Given the description of an element on the screen output the (x, y) to click on. 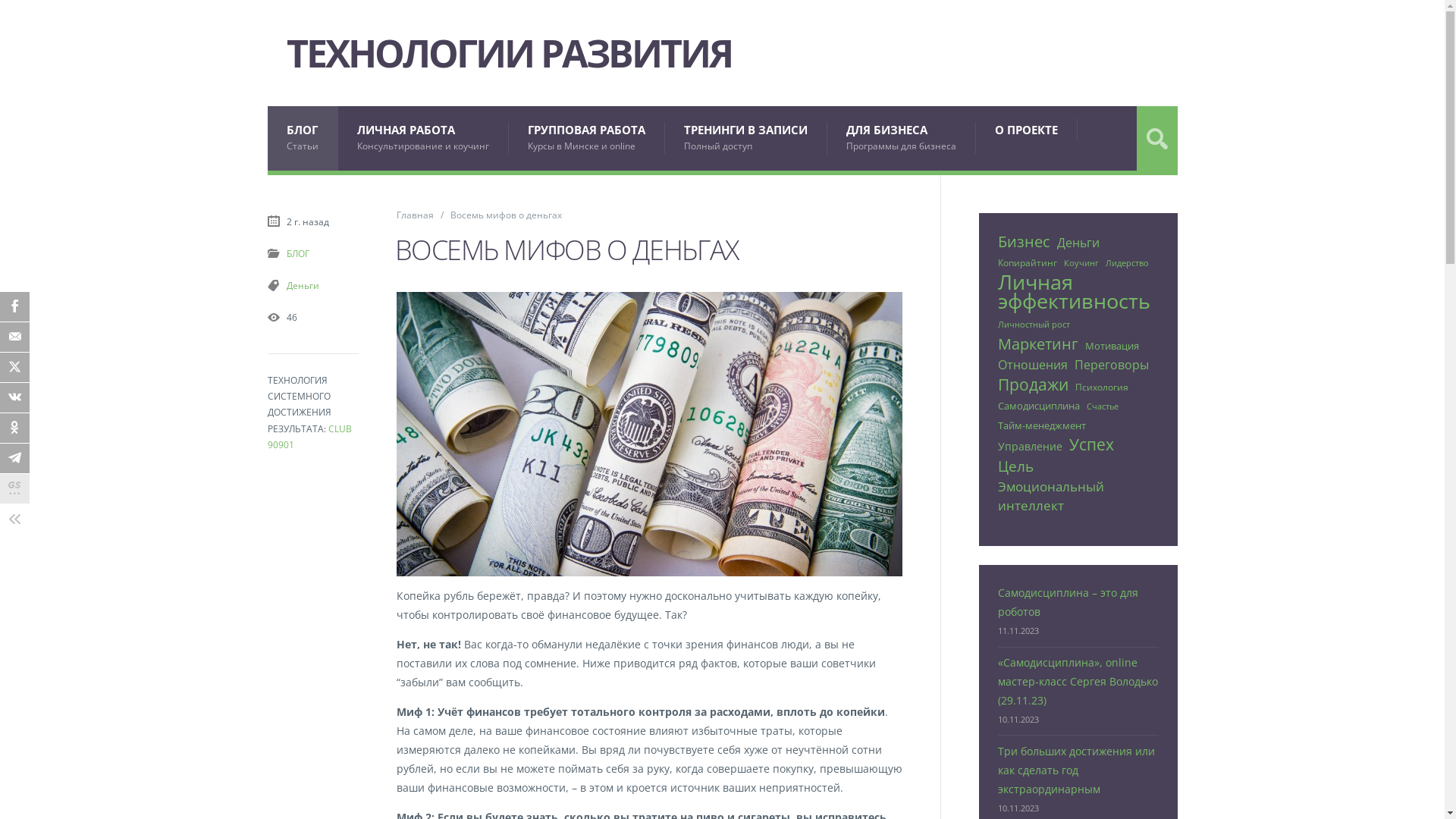
CLUB 90901 Element type: text (308, 436)
